Given the description of an element on the screen output the (x, y) to click on. 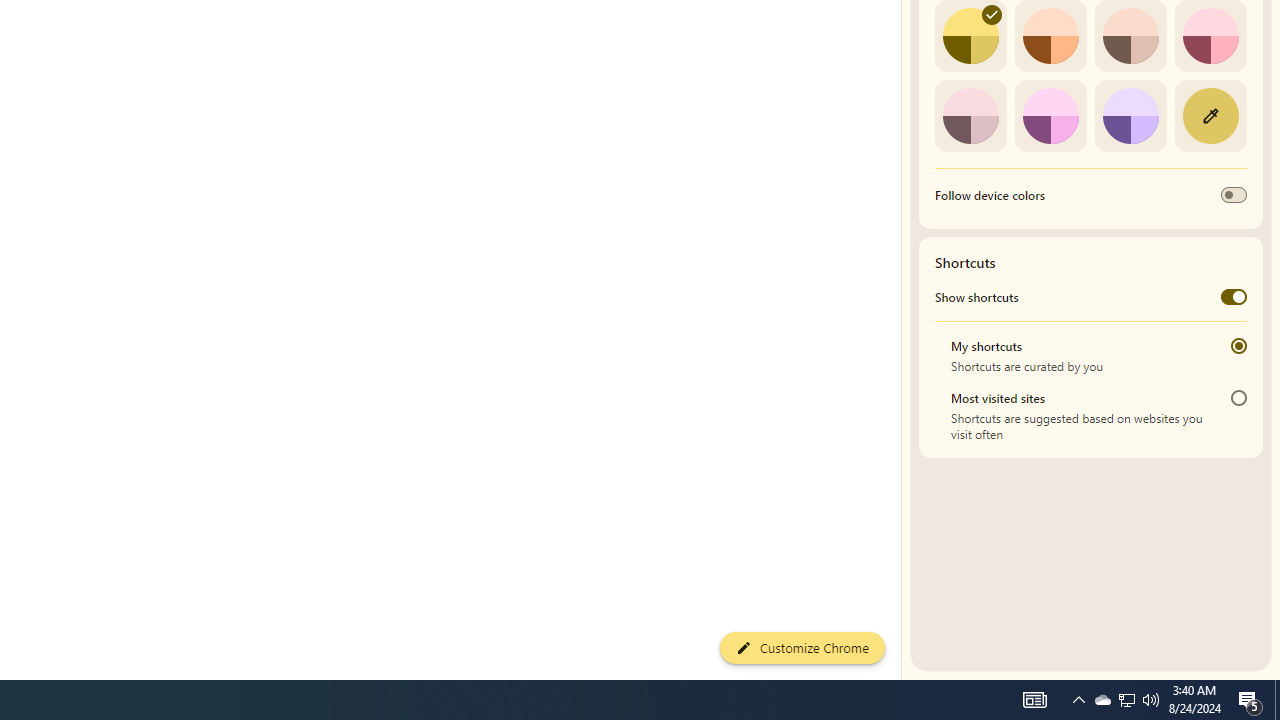
Apricot (1130, 36)
My shortcuts (1238, 345)
Most visited sites (1238, 398)
Rose (1210, 36)
Custom color (1210, 115)
Citron (970, 36)
Fuchsia (1050, 115)
Orange (1050, 36)
Follow device colors (1233, 195)
AutomationID: svg (991, 15)
Show shortcuts (1233, 296)
Side Panel Resize Handle (905, 39)
Pink (970, 115)
